Given the description of an element on the screen output the (x, y) to click on. 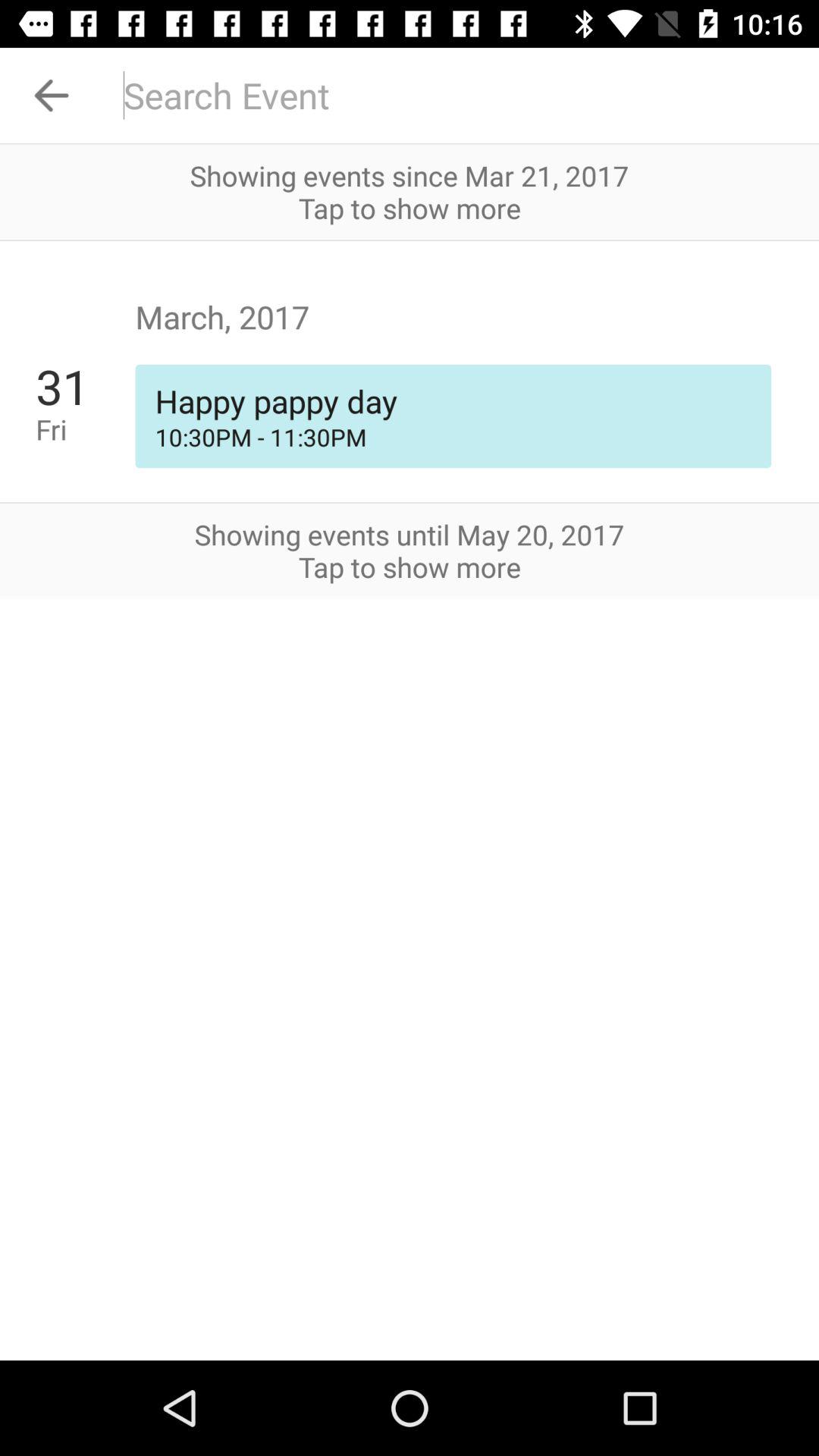
select happy pappy day item (453, 400)
